Given the description of an element on the screen output the (x, y) to click on. 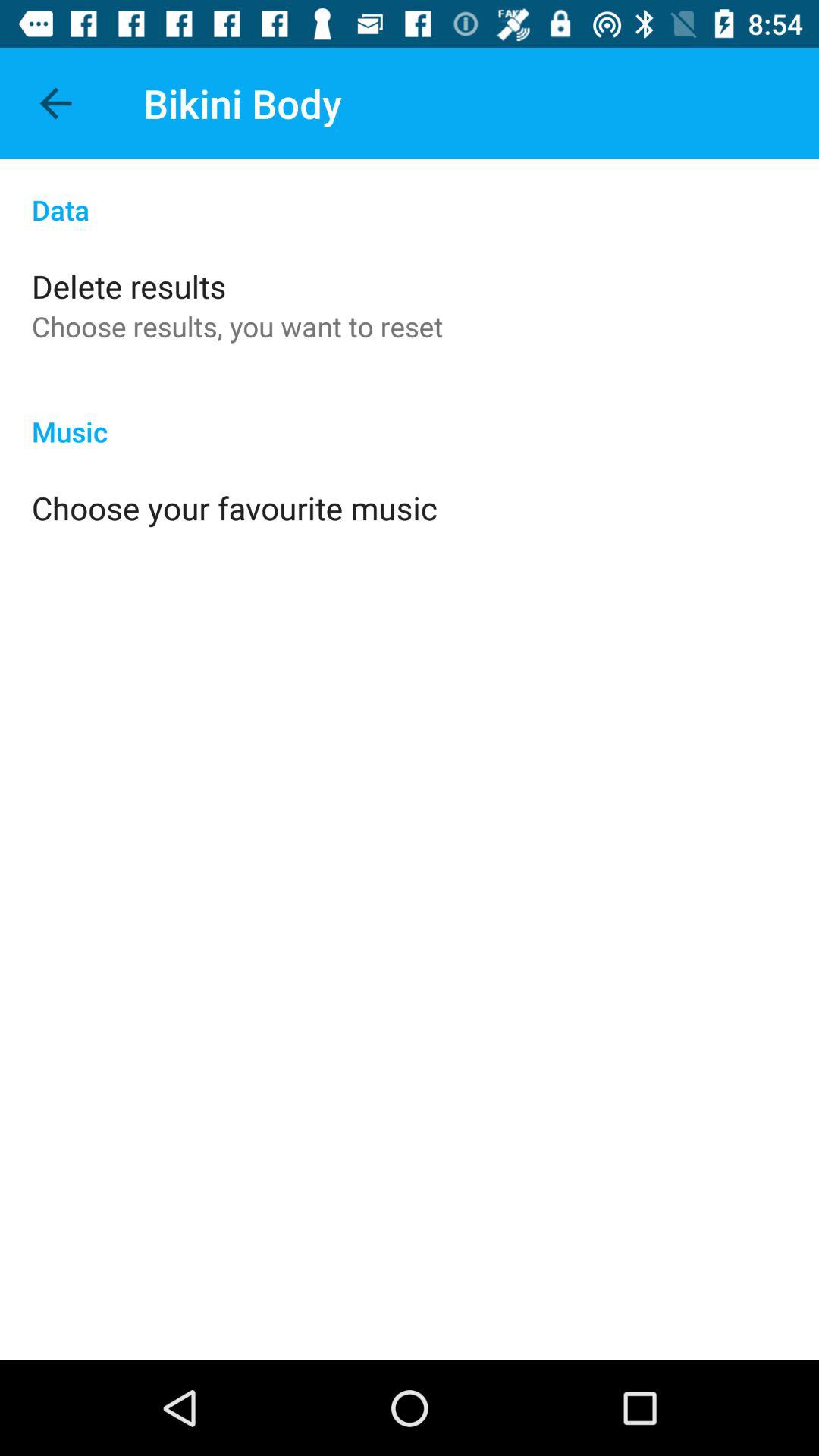
choose choose your favourite (234, 507)
